Given the description of an element on the screen output the (x, y) to click on. 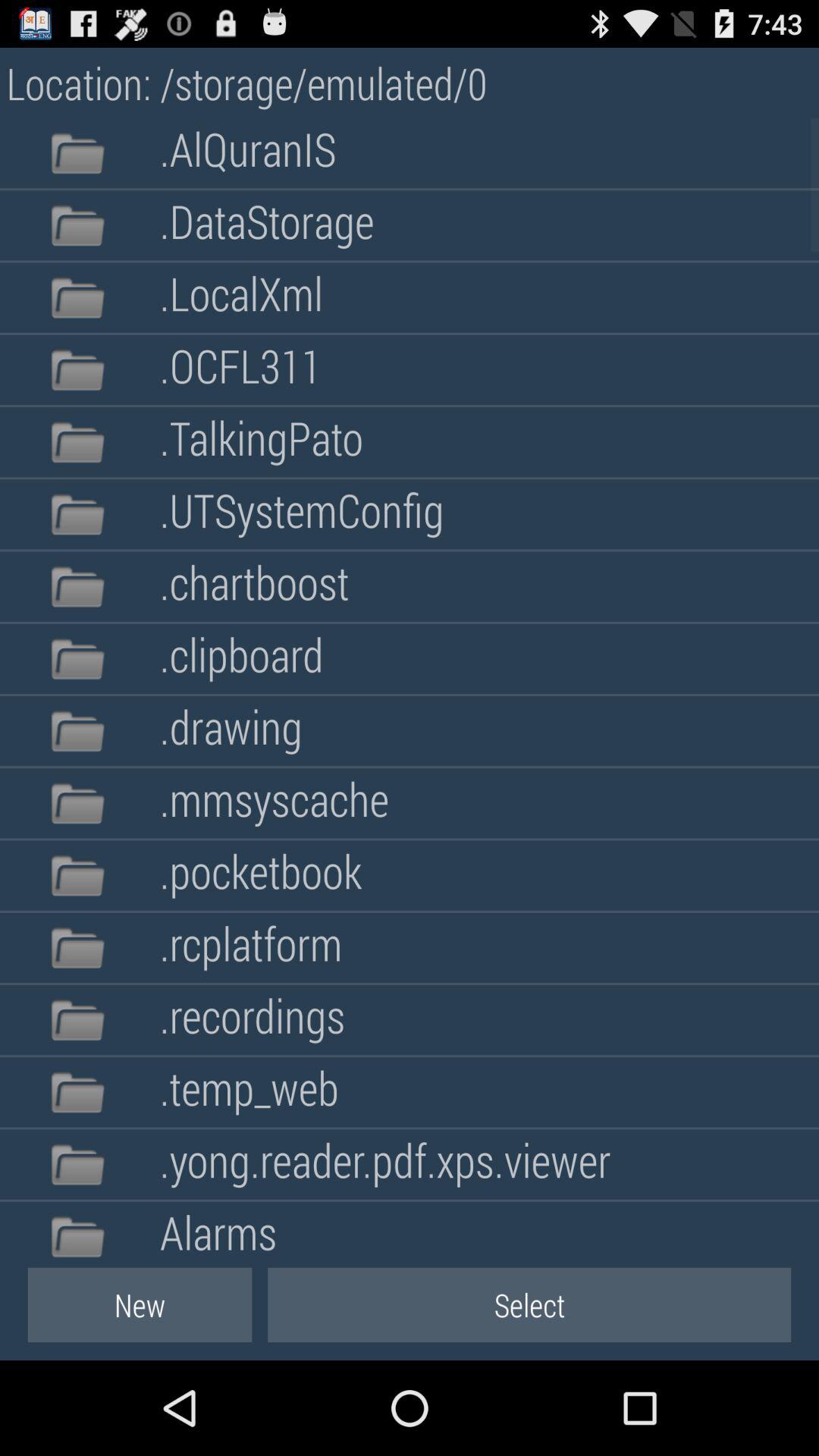
jump to the .recordings (252, 1020)
